Given the description of an element on the screen output the (x, y) to click on. 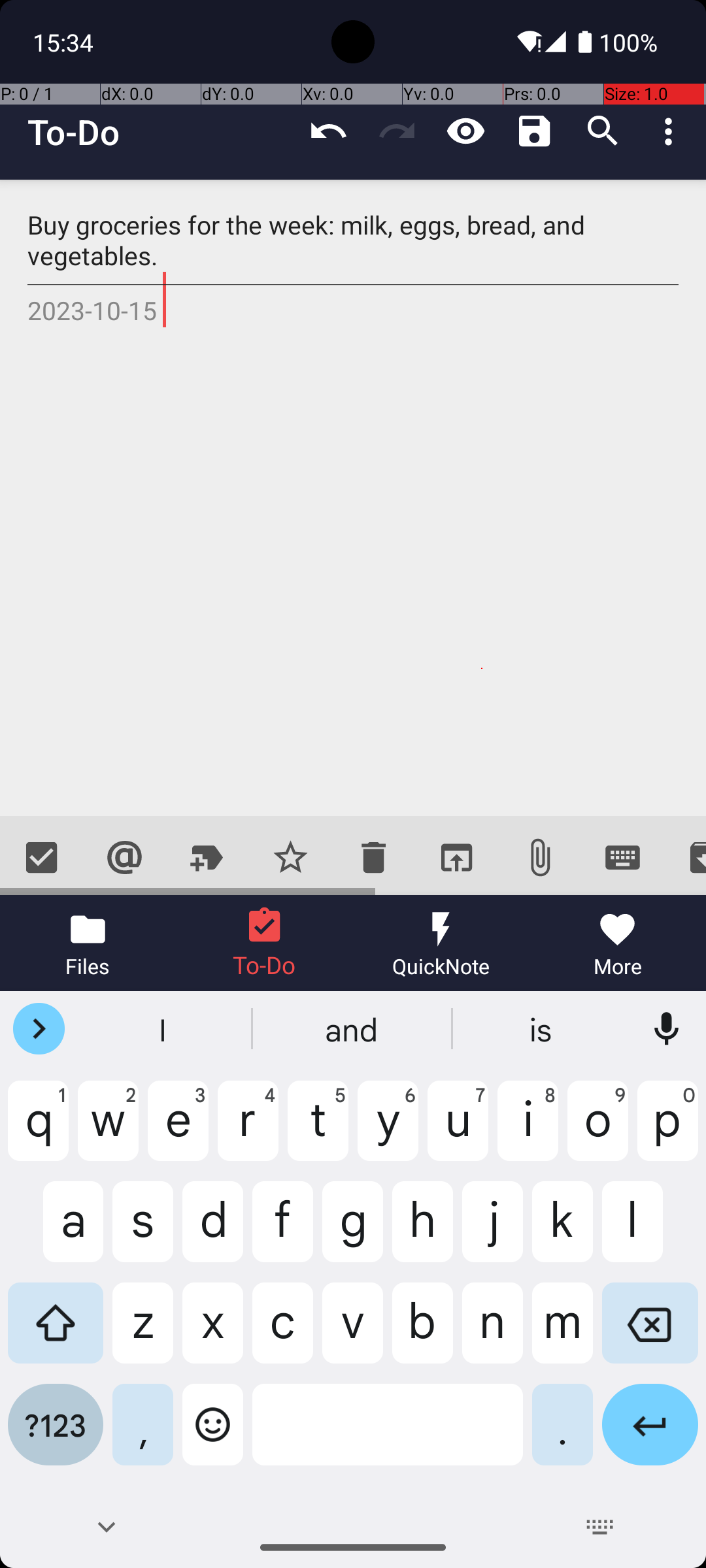
Buy groceries for the week: milk, eggs, bread, and vegetables.
2023-10-15  Element type: android.widget.EditText (353, 497)
and Element type: android.widget.FrameLayout (352, 1028)
is Element type: android.widget.FrameLayout (541, 1028)
